Given the description of an element on the screen output the (x, y) to click on. 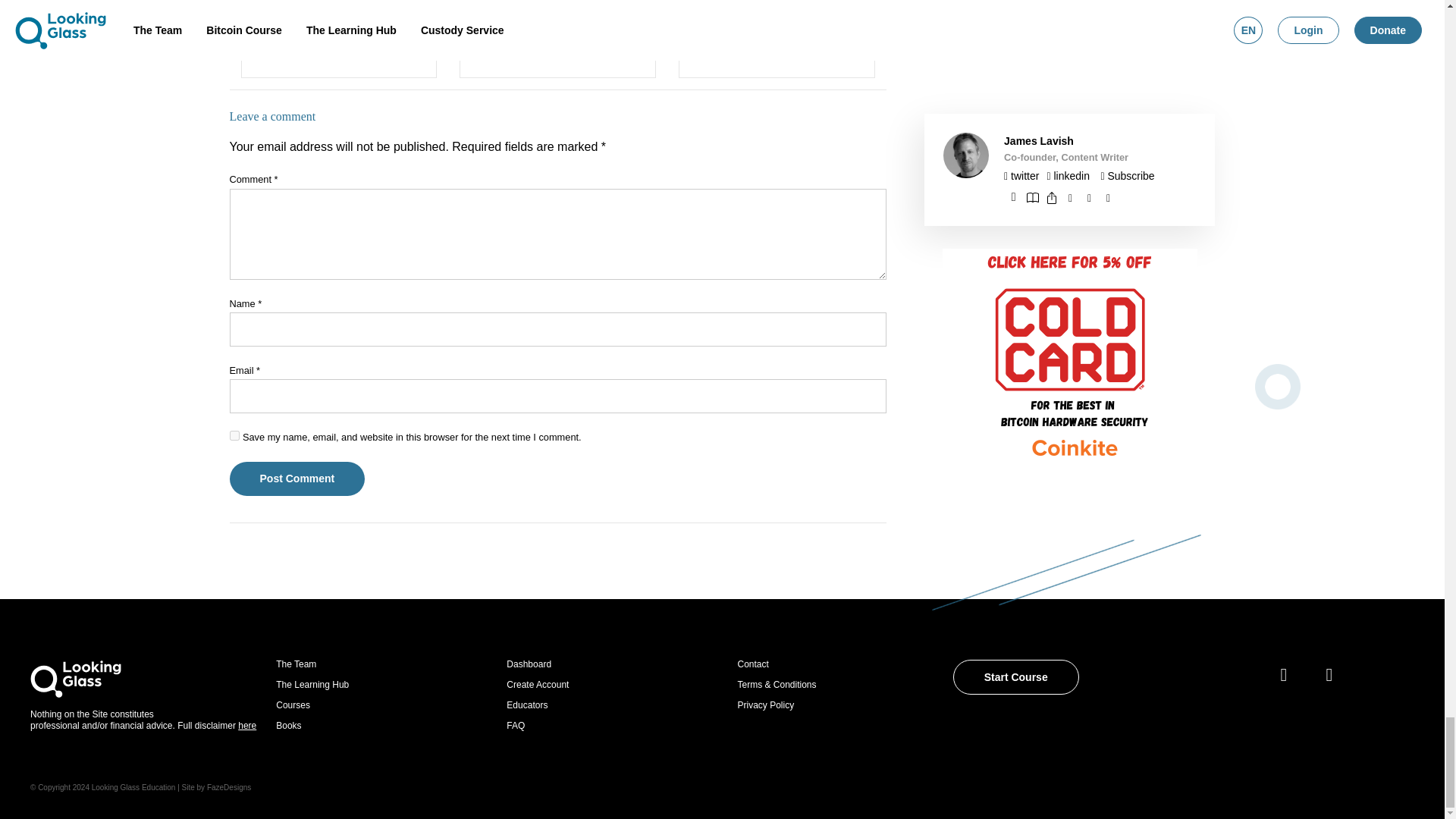
Post Comment (296, 478)
yes (233, 435)
